Given the description of an element on the screen output the (x, y) to click on. 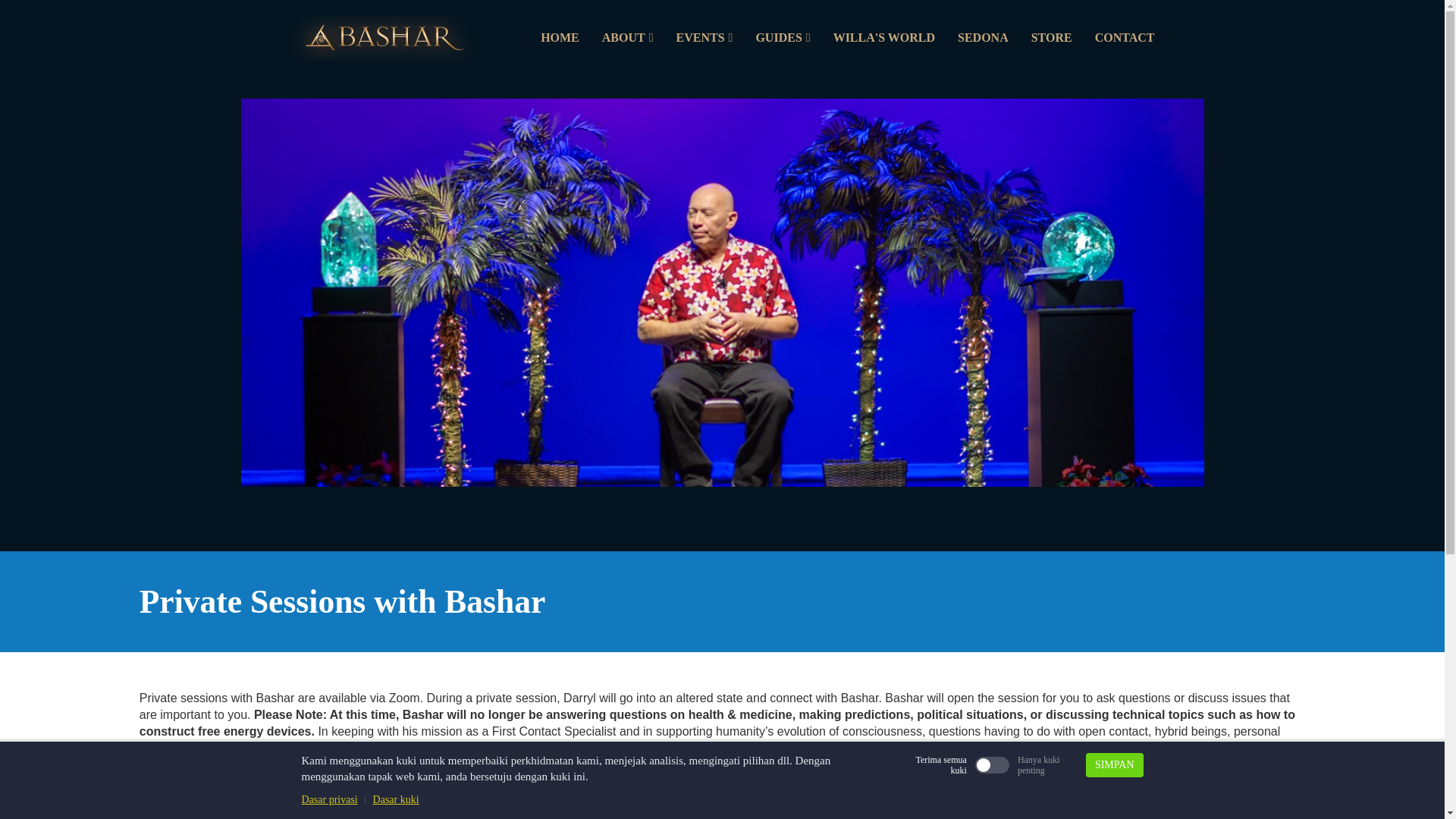
STORE (1051, 37)
Dasar privasi (329, 799)
SEDONA (983, 37)
SIMPAN (1114, 764)
EVENTS (704, 37)
HOME (560, 37)
Dasar kuki (395, 799)
CONTACT (1124, 37)
GUIDES (782, 37)
WILLA'S WORLD (884, 37)
ABOUT (628, 37)
